Given the description of an element on the screen output the (x, y) to click on. 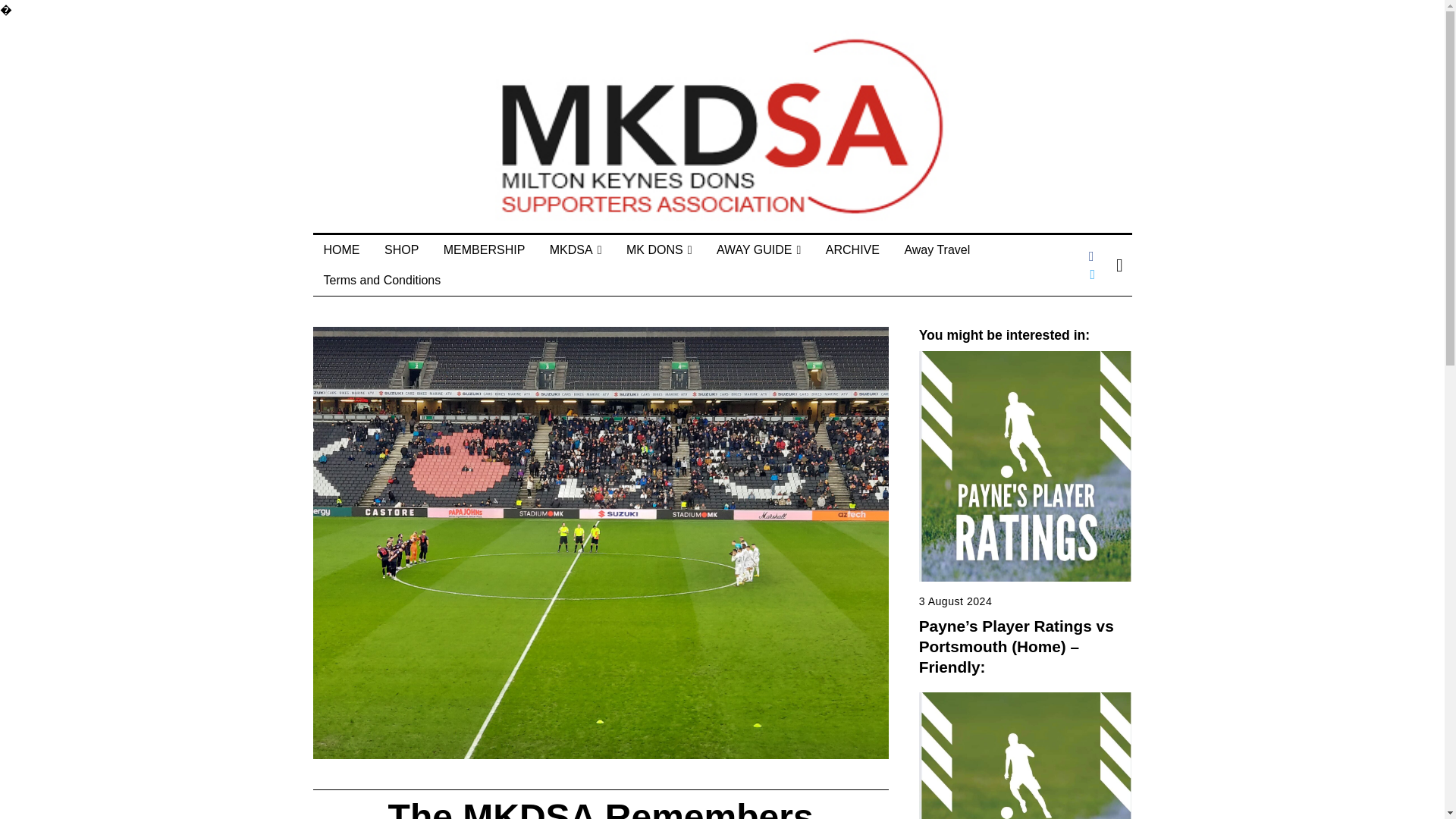
SHOP (401, 250)
MKDSA (575, 250)
Terms and Conditions (382, 280)
AWAY GUIDE (758, 250)
MK DONS (659, 250)
Away Travel (936, 250)
ARCHIVE (852, 250)
HOME (341, 250)
MEMBERSHIP (483, 250)
